Given the description of an element on the screen output the (x, y) to click on. 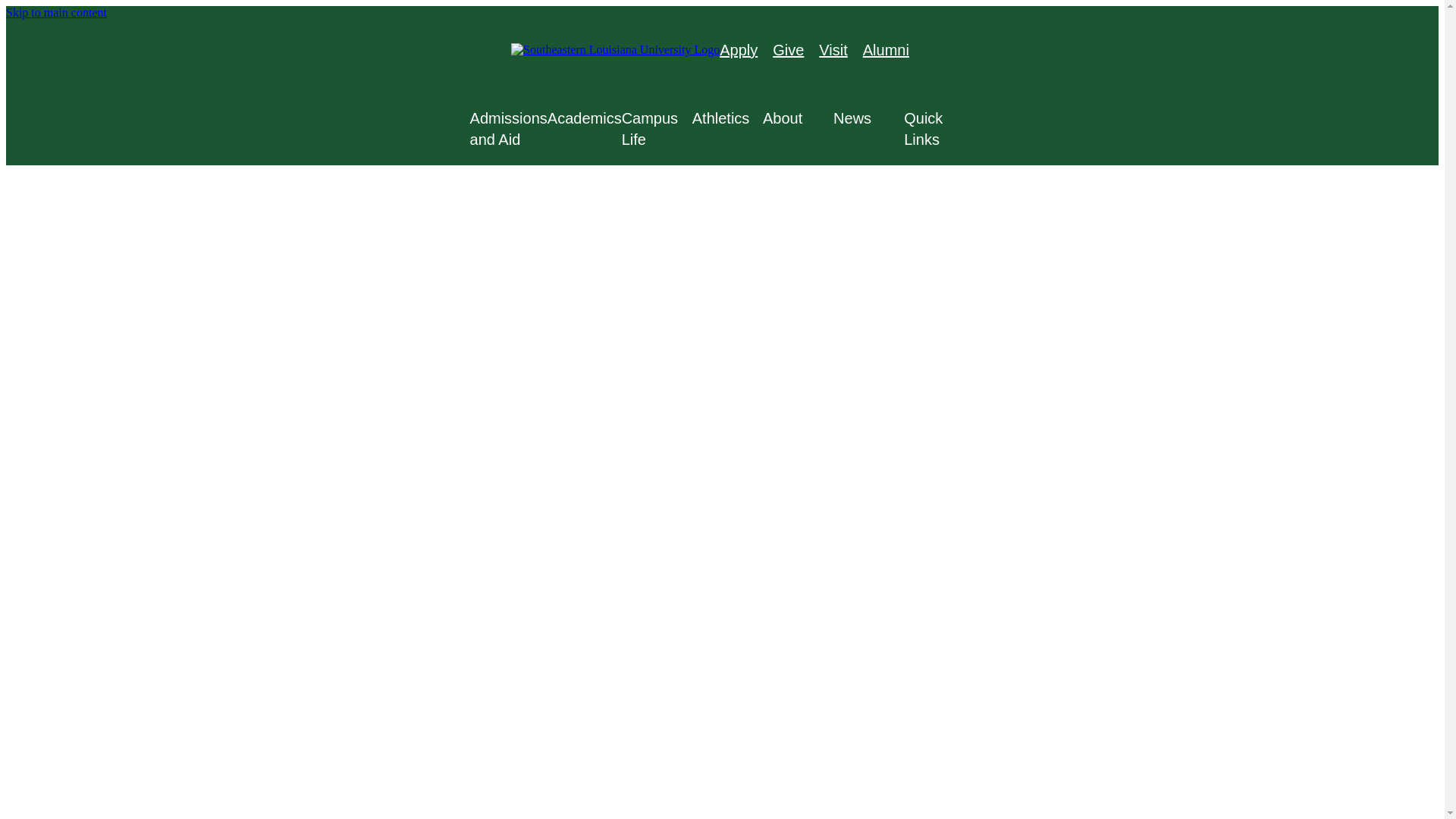
Alumni (885, 49)
Give (788, 49)
Academics (584, 117)
Visit (832, 49)
Admissions and Aid (508, 128)
Campus Life (657, 128)
Apply (738, 49)
